Given the description of an element on the screen output the (x, y) to click on. 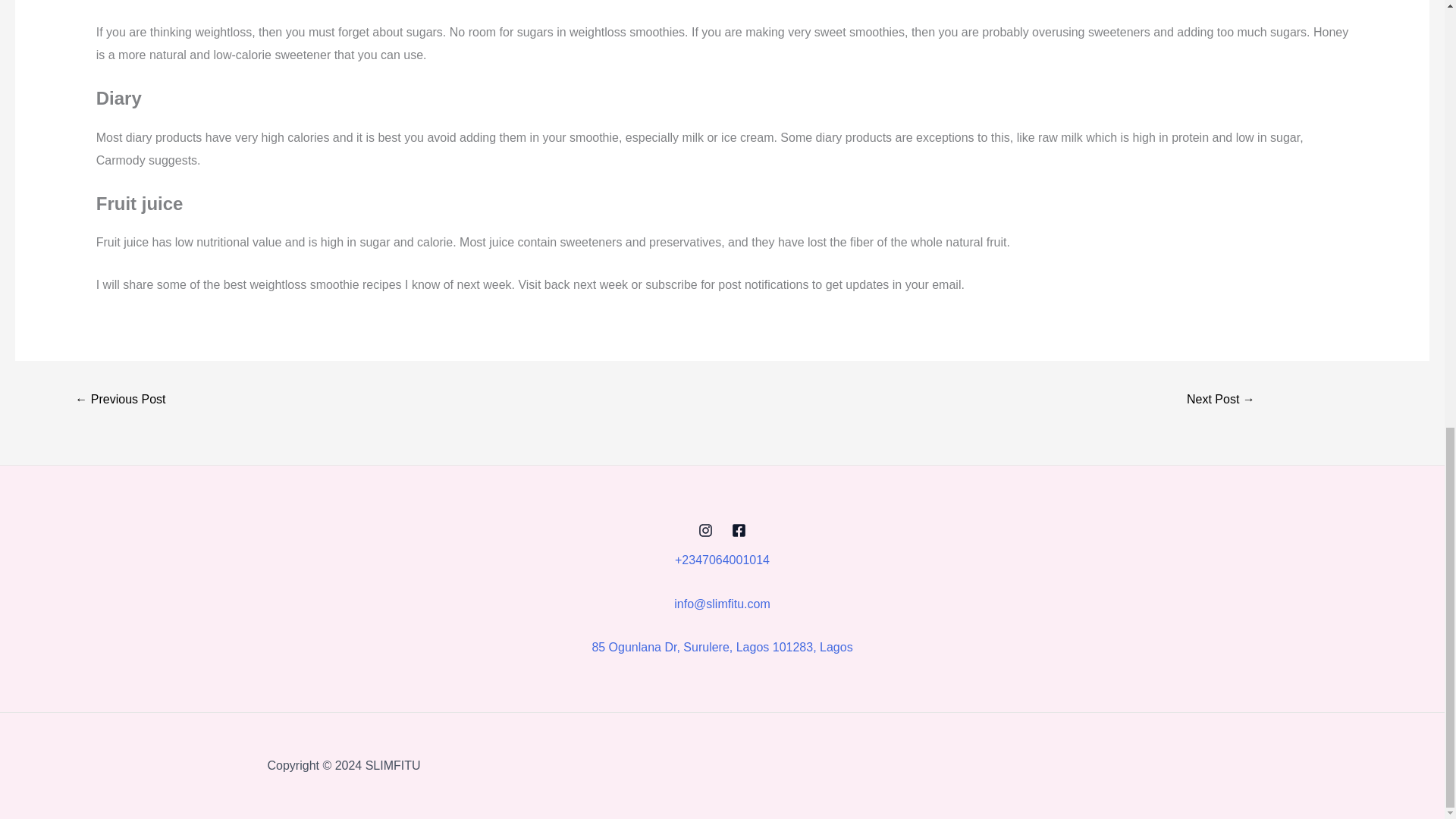
85 Ogunlana Dr, Surulere, Lagos 101283, Lagos (721, 646)
Weightloss smoothie recipes that you can start with (1220, 400)
Get on the weightloss train with SlimFitU (119, 400)
